Given the description of an element on the screen output the (x, y) to click on. 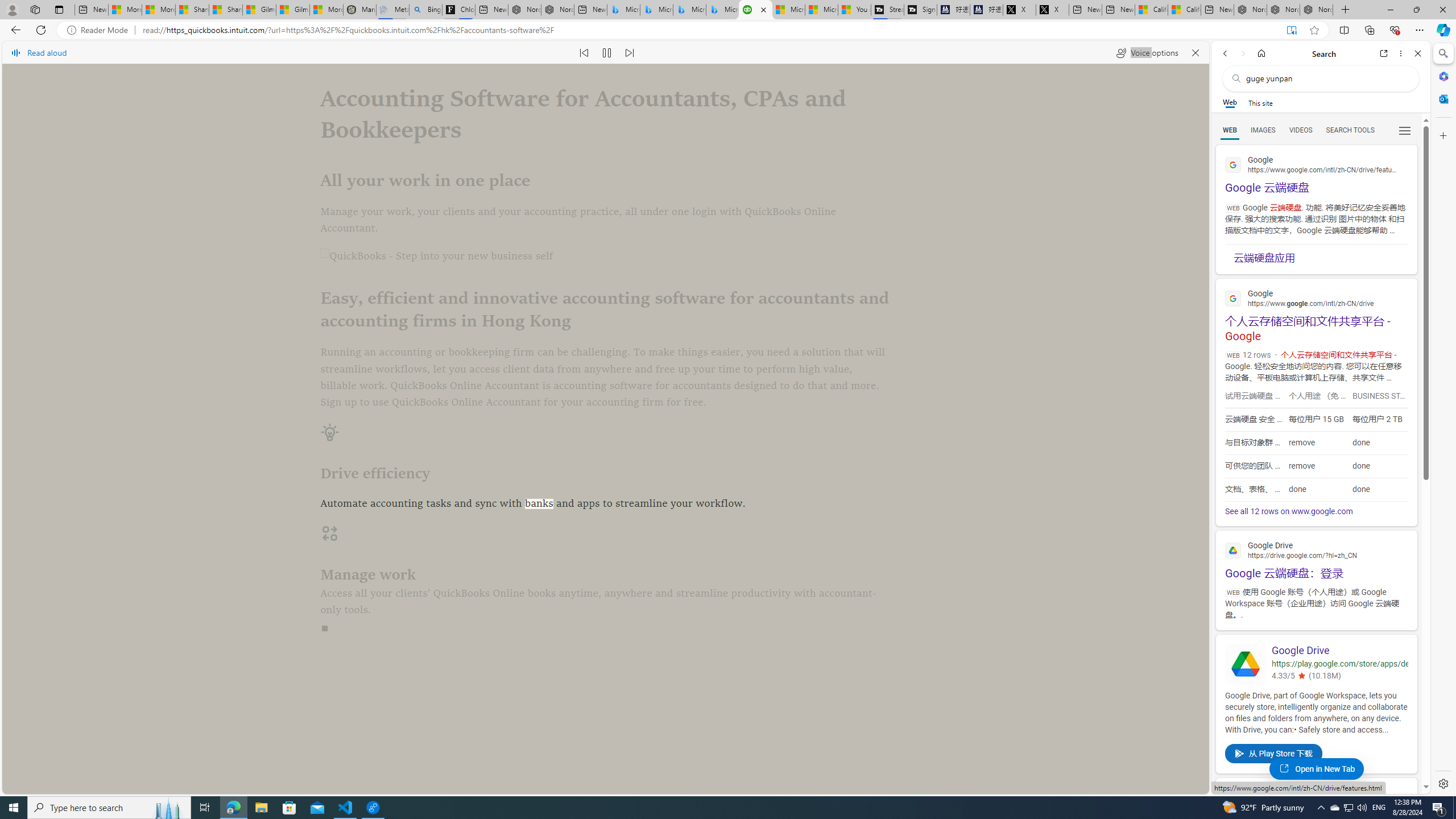
This site scope (1259, 102)
WEB   (1230, 130)
4.33/5(10.18M) (1339, 676)
Exit Immersive Reader (F9) (1291, 29)
QuickBooks - Step into your new business self (605, 256)
Pause read aloud (Ctrl+Shift+U) (606, 52)
Google Drive (1245, 663)
